Given the description of an element on the screen output the (x, y) to click on. 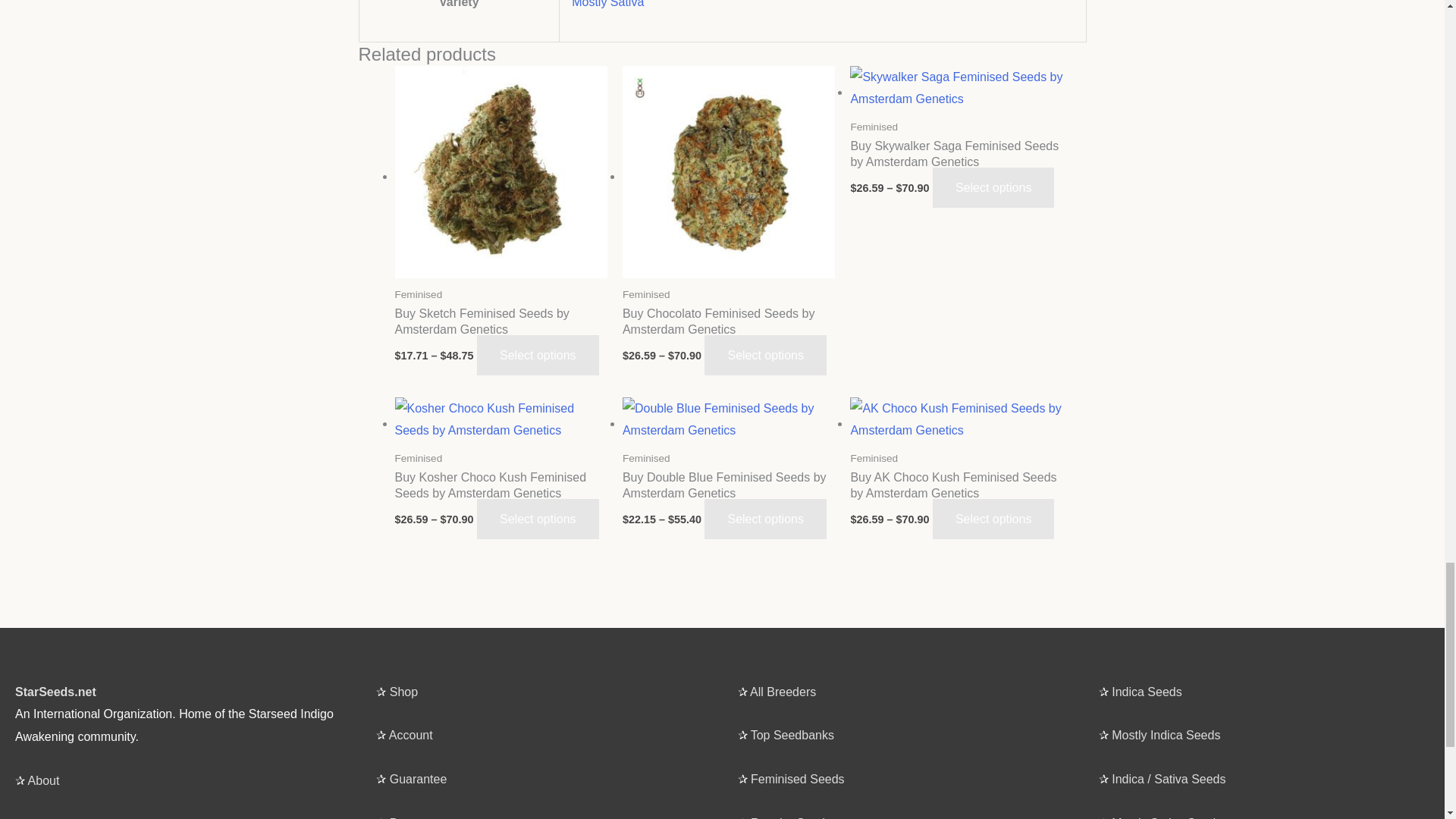
Buy Chocolato Feminised Seeds by Amsterdam Genetics (728, 333)
Mostly Sativa (607, 4)
Buy Sketch Feminised Seeds by Amsterdam Genetics (500, 333)
Select options (537, 354)
